Given the description of an element on the screen output the (x, y) to click on. 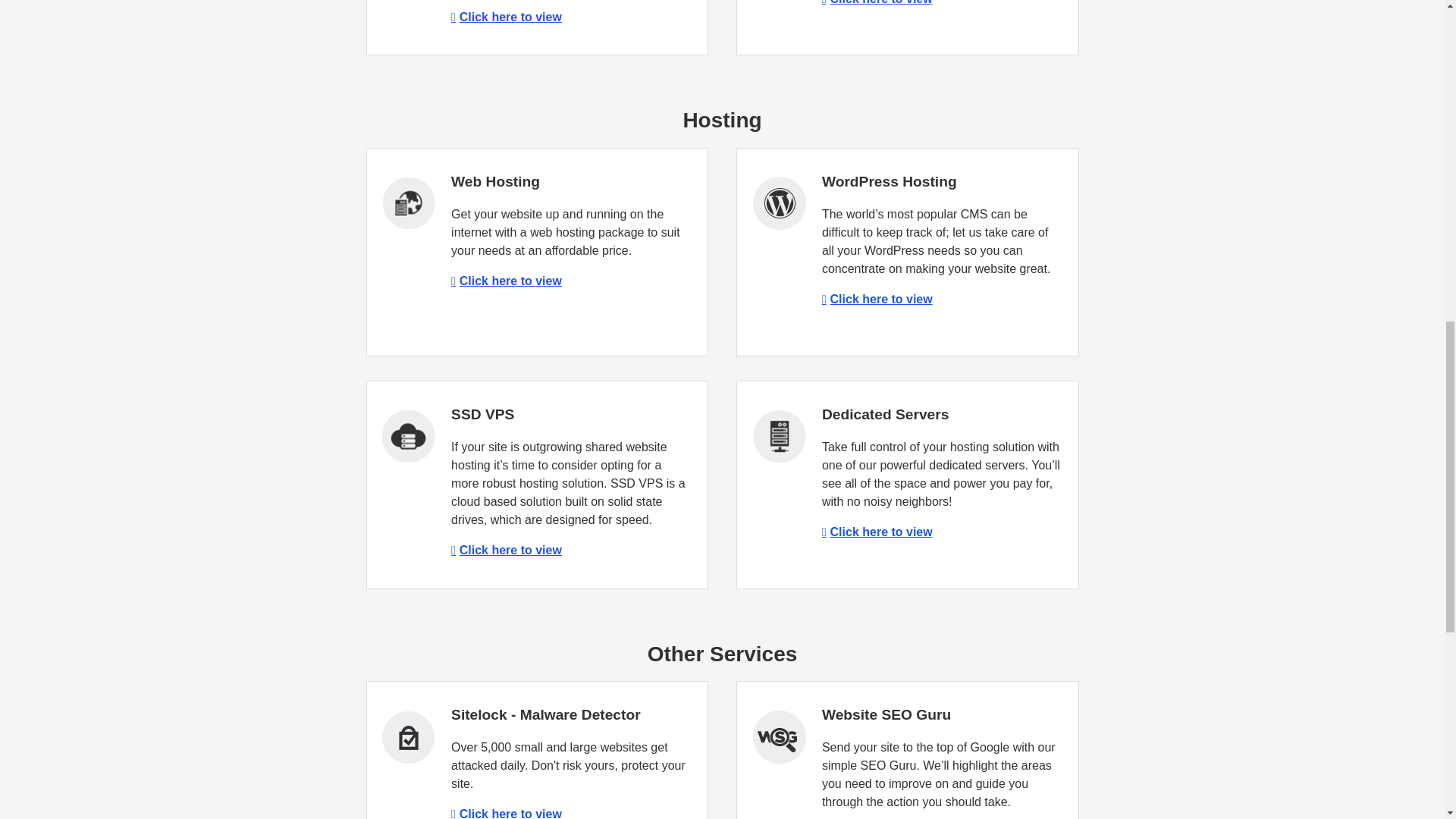
Click here to view (877, 531)
Click here to view (877, 298)
Click here to view (877, 2)
Click here to view (506, 549)
Click here to view (506, 813)
Click here to view (506, 280)
Click here to view (506, 16)
